Given the description of an element on the screen output the (x, y) to click on. 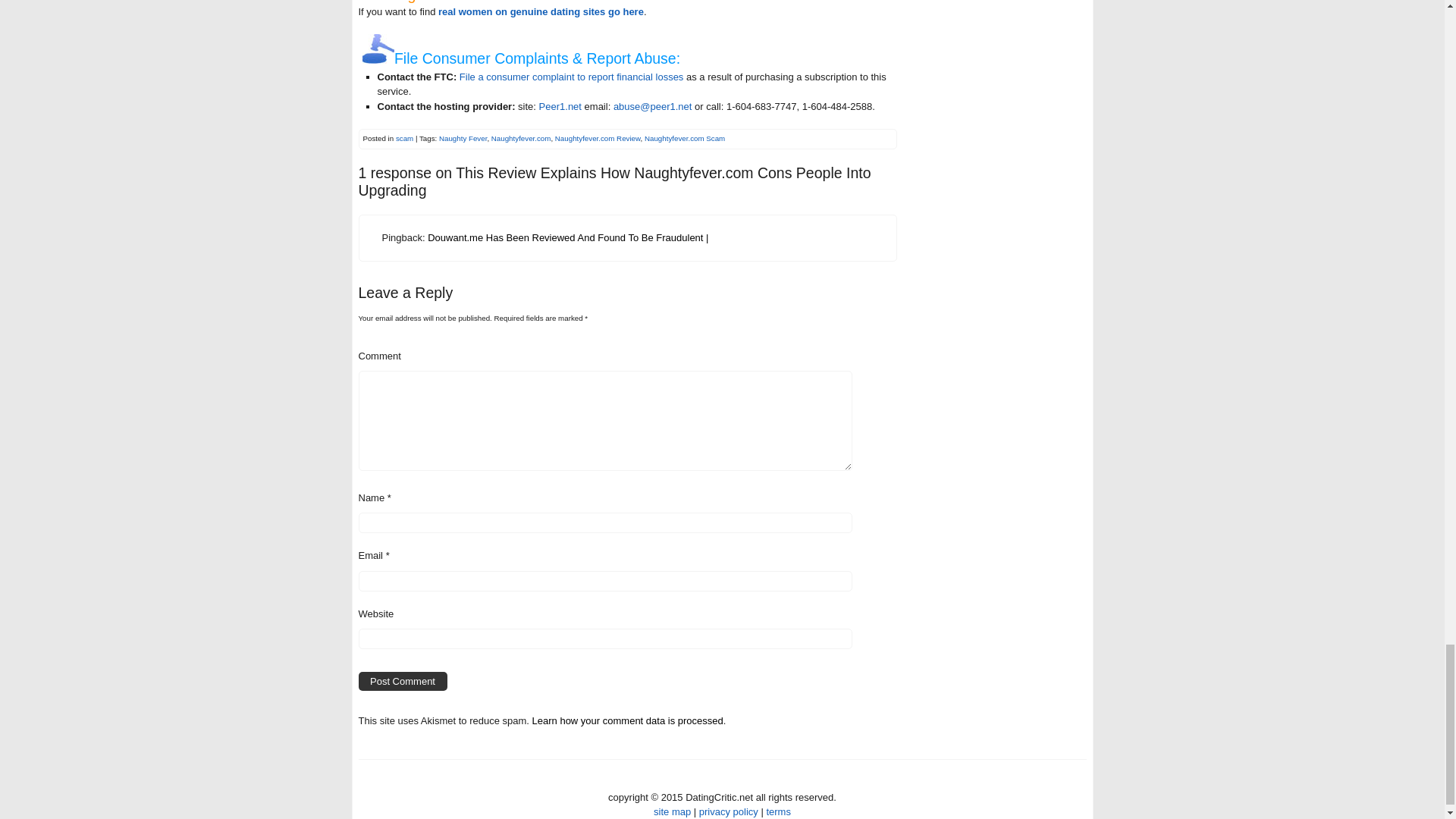
scam (404, 138)
Post Comment (402, 681)
File a consumer complaint to report financial losses (572, 76)
Post Comment (402, 681)
Naughtyfever.com Review (597, 138)
Peer1.net (559, 106)
Learn how your comment data is processed (627, 720)
Naughty Fever (462, 138)
Naughtyfever.com Scam (685, 138)
real women on genuine dating sites go here (540, 11)
Naughtyfever.com (521, 138)
